Given the description of an element on the screen output the (x, y) to click on. 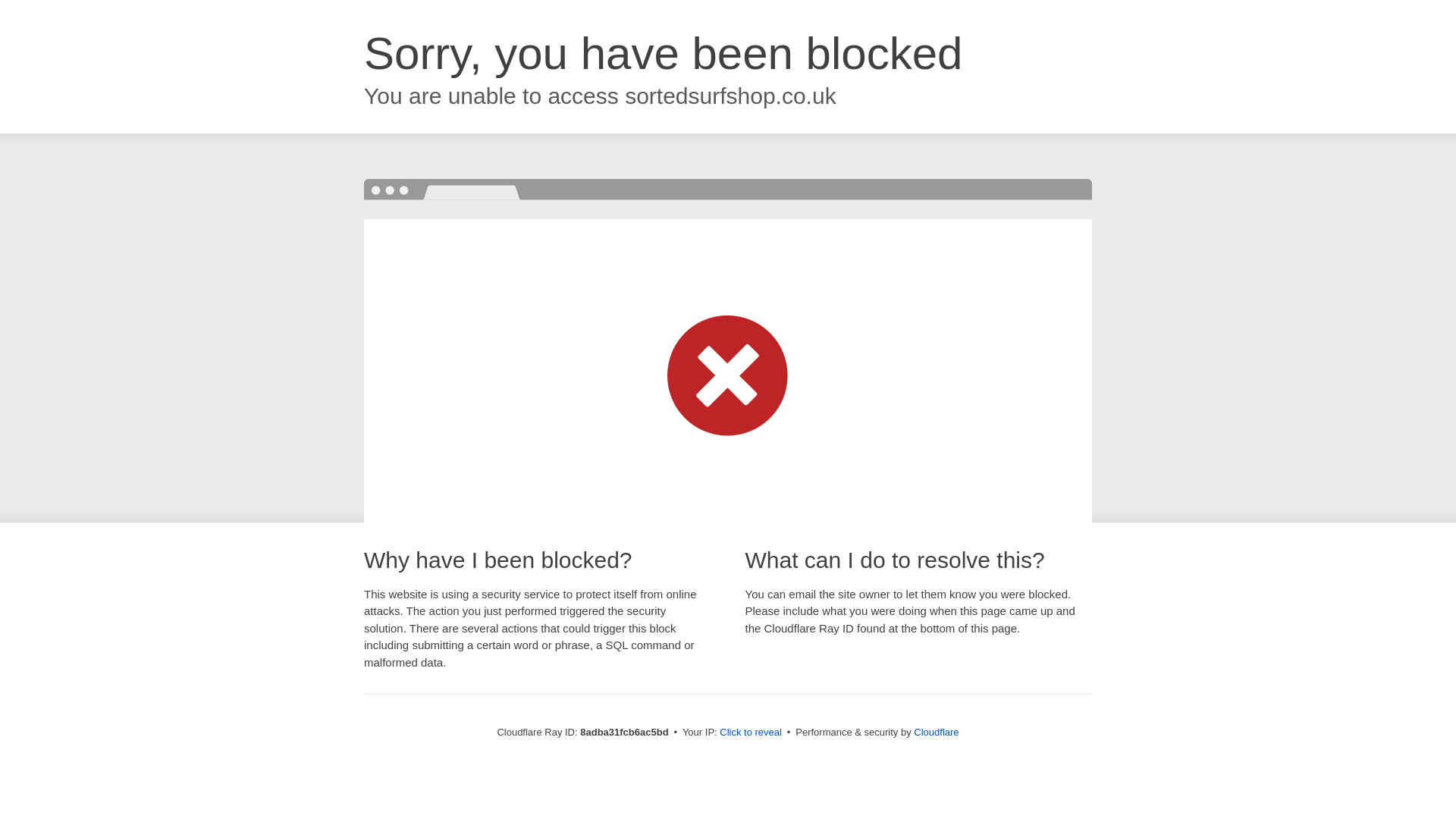
Click to reveal (750, 732)
Cloudflare (936, 731)
